Given the description of an element on the screen output the (x, y) to click on. 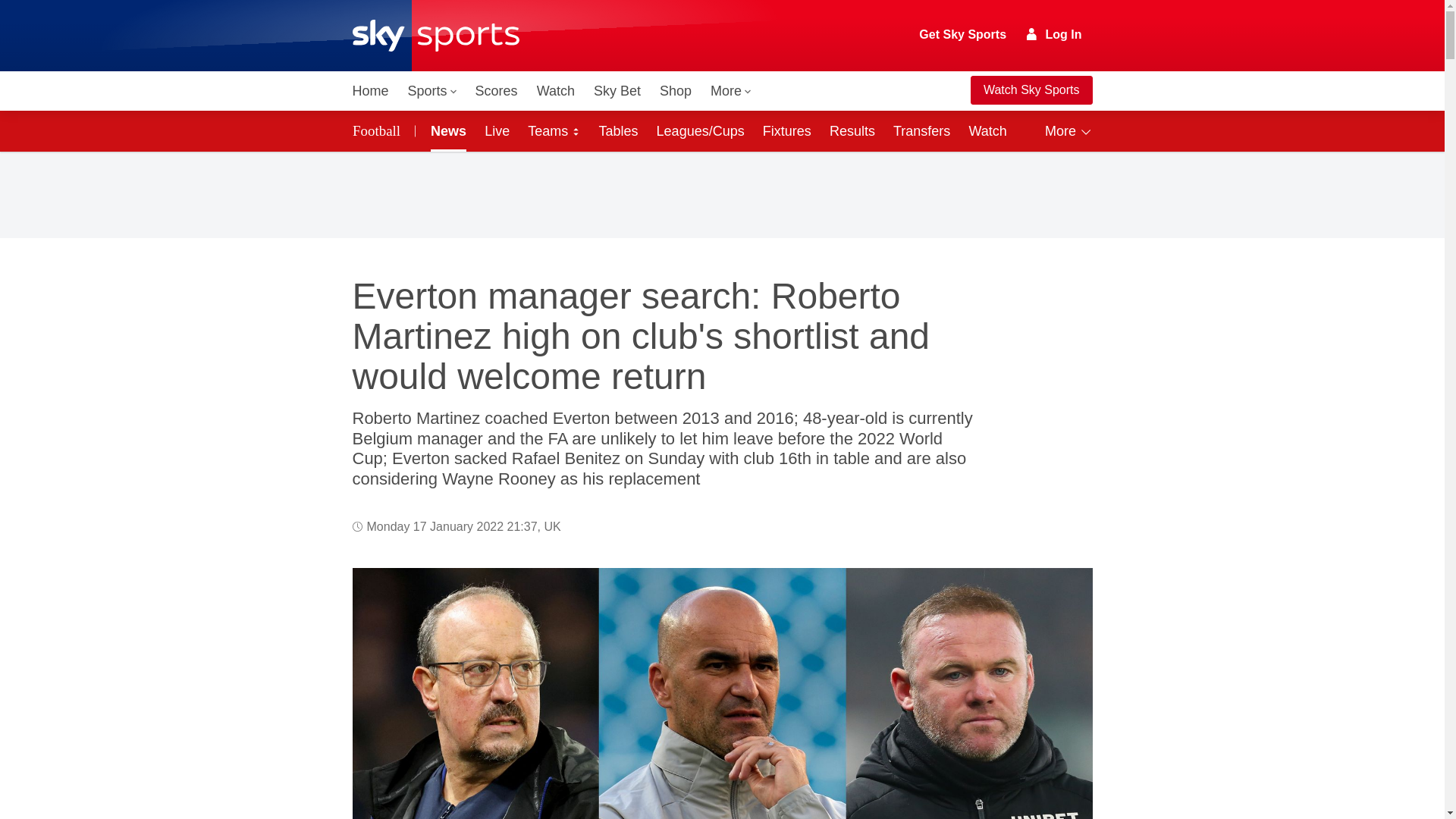
Shop (675, 91)
Football (378, 130)
More (730, 91)
Home (369, 91)
Sports (432, 91)
Get Sky Sports (962, 34)
Watch (555, 91)
Watch Sky Sports (1032, 90)
Log In (1053, 33)
Sky Bet (616, 91)
